Given the description of an element on the screen output the (x, y) to click on. 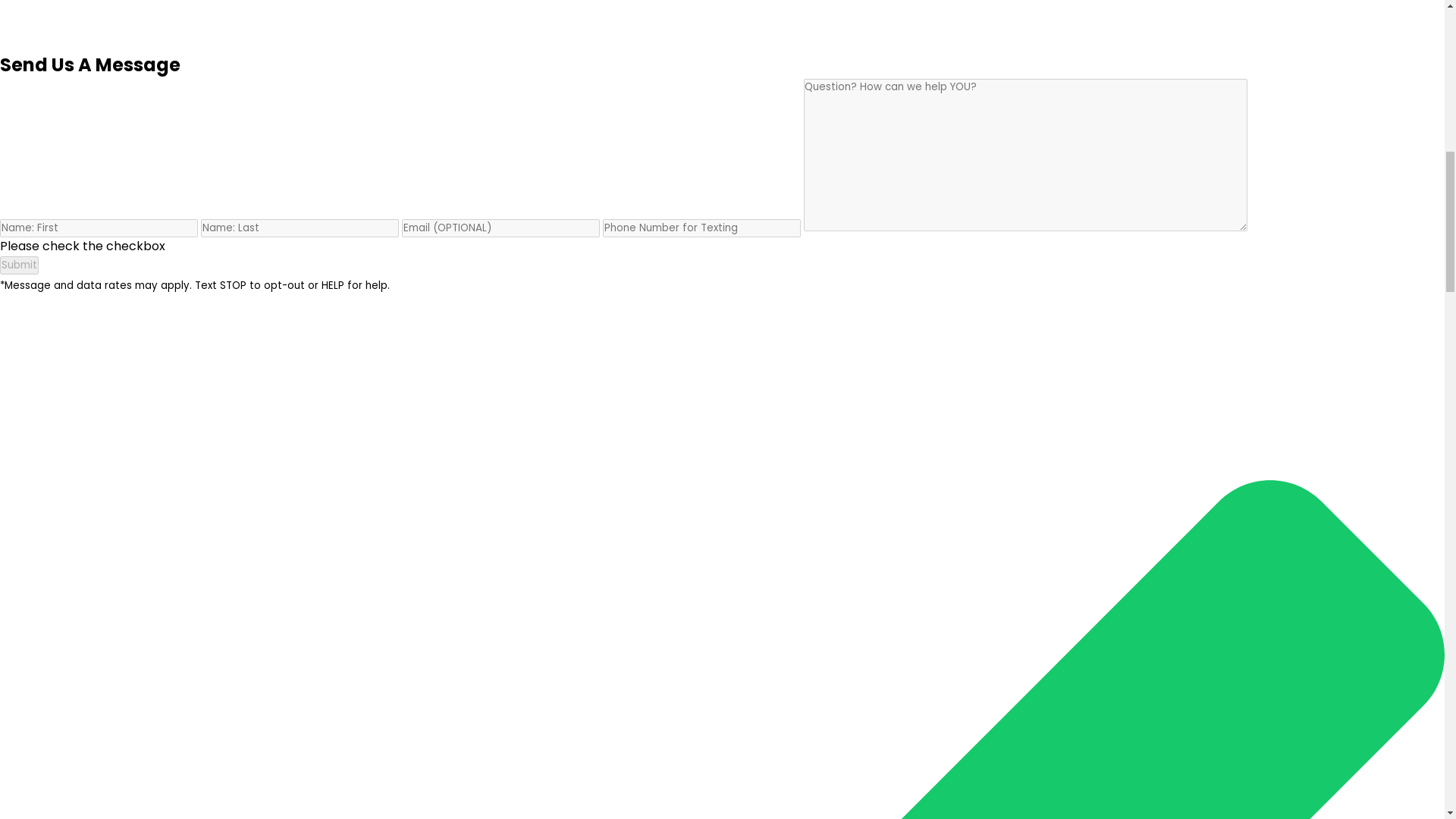
Submit (19, 265)
